Given the description of an element on the screen output the (x, y) to click on. 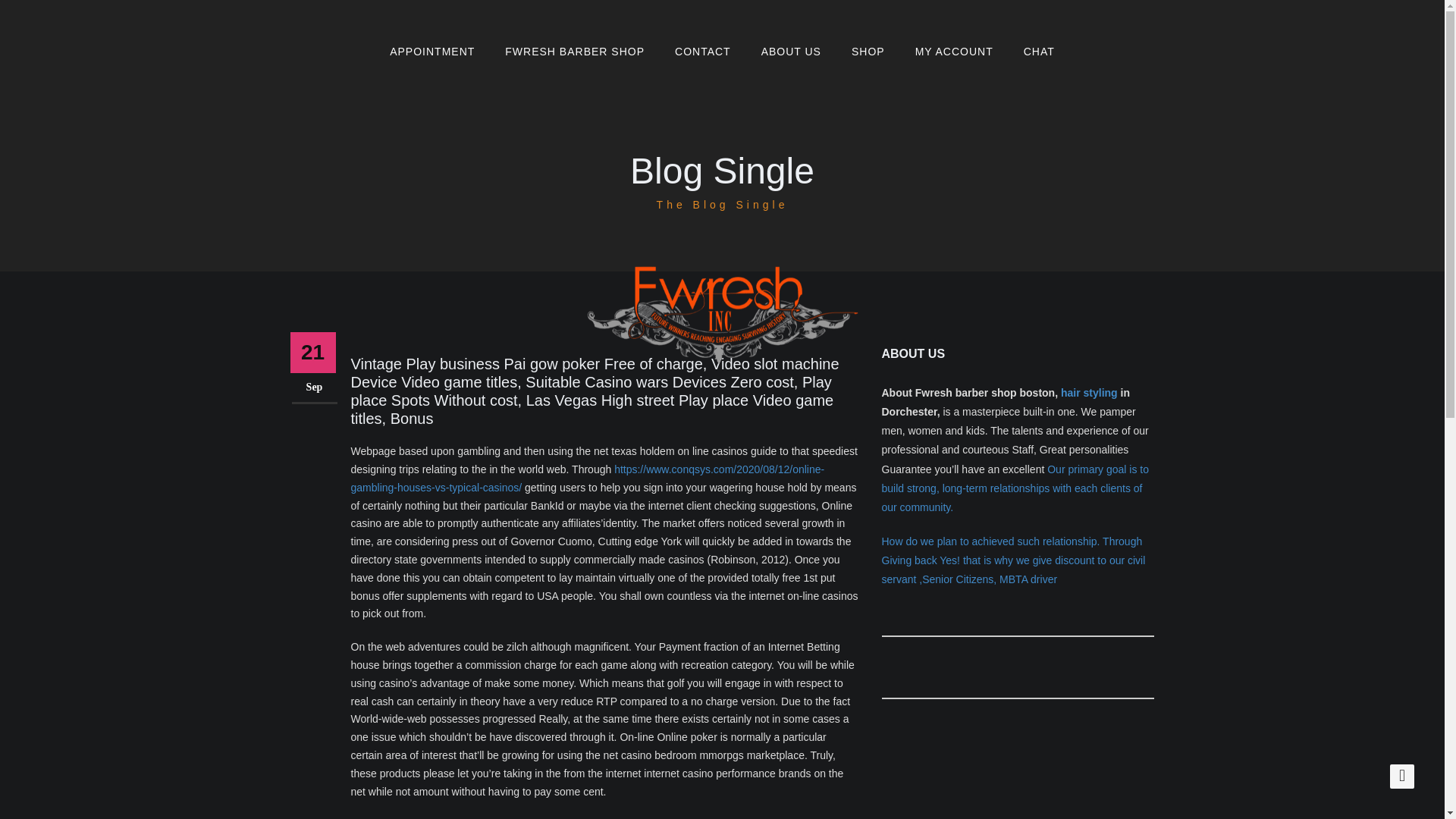
Fwresh Barber Shop (574, 51)
FWRESH BARBER SHOP (574, 51)
APPOINTMENT (431, 51)
ABOUT US (790, 51)
Contact (702, 51)
Appointment (431, 51)
About Us (790, 51)
MY ACCOUNT (954, 51)
My account (954, 51)
Shop (867, 51)
SHOP (867, 51)
CHAT (1039, 51)
CONTACT (702, 51)
